Given the description of an element on the screen output the (x, y) to click on. 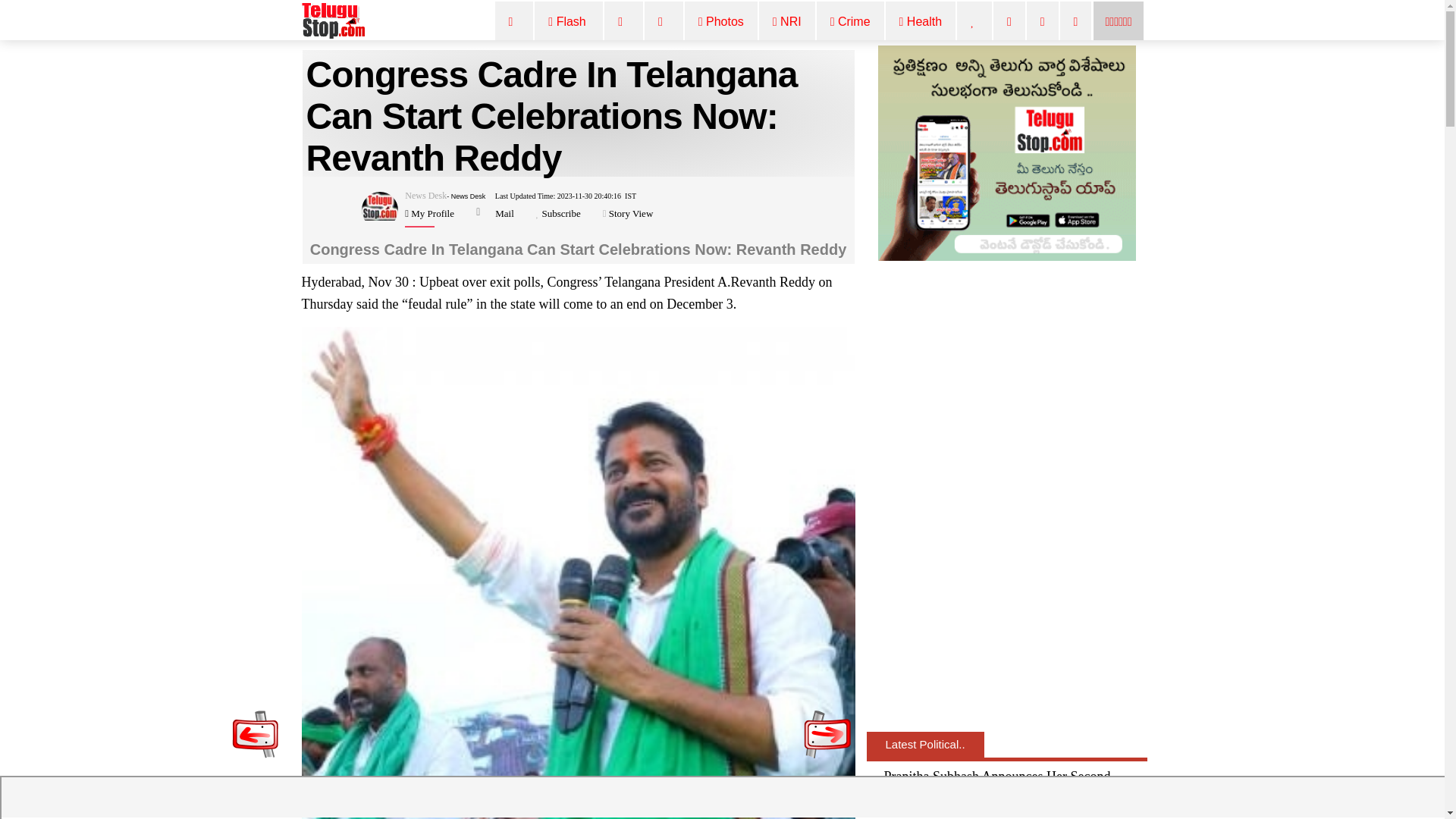
Political (664, 22)
Telugu Health Tips (920, 22)
 Subscribe (559, 213)
News Desk (425, 195)
Latest Sports News. (1076, 22)
 Health (920, 22)
Latest Business News. (1009, 22)
 Flash  (569, 22)
Bollywood Movie News (623, 22)
 Photos (721, 22)
All Latest India Country wide National News (569, 22)
 Crime (850, 22)
